Given the description of an element on the screen output the (x, y) to click on. 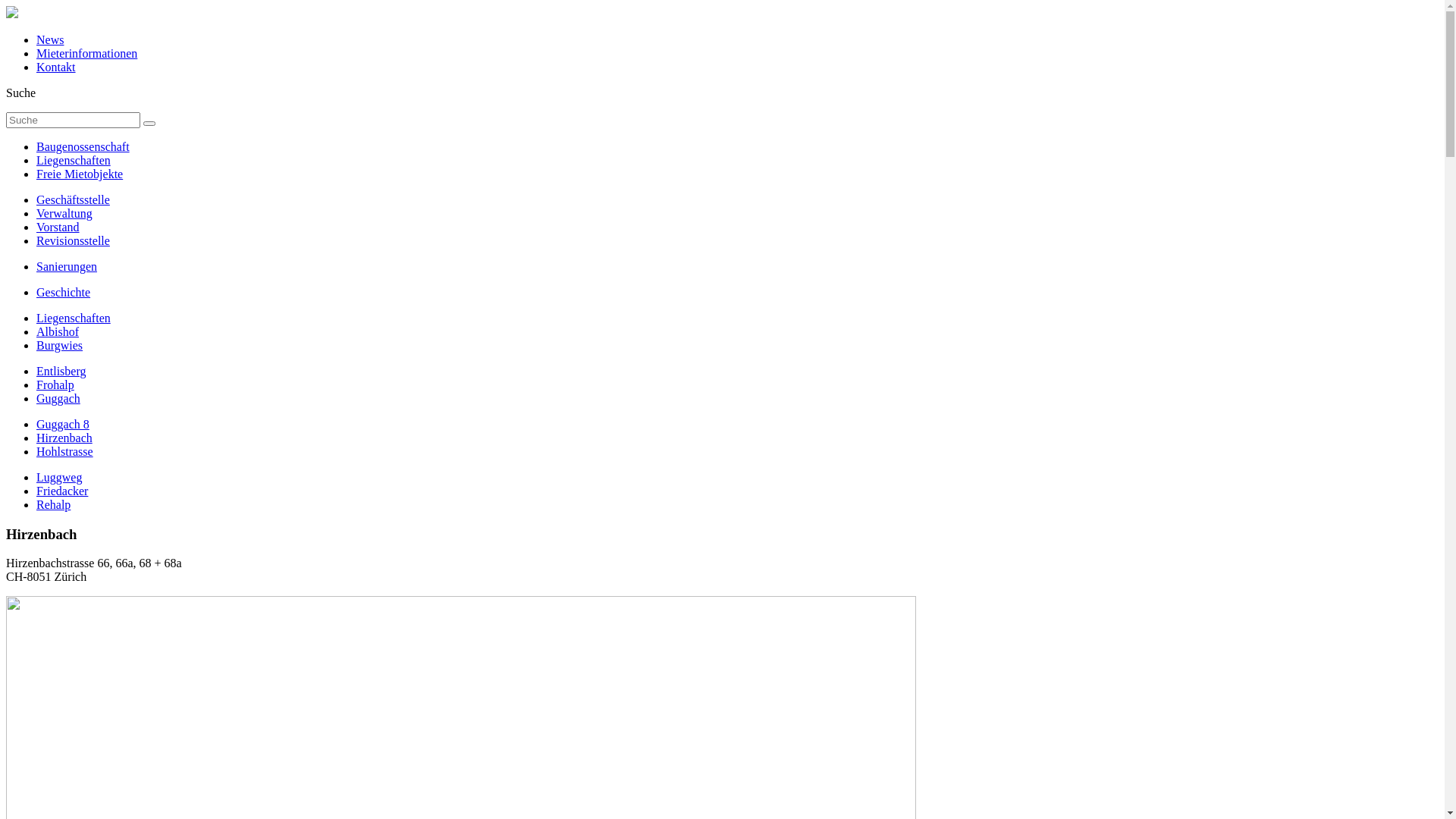
Frohalp Element type: text (55, 384)
Luggweg Element type: text (58, 476)
Mieterinformationen Element type: text (86, 53)
Rehalp Element type: text (53, 504)
Baugenossenschaft Element type: text (82, 146)
Guggach 8 Element type: text (62, 423)
Liegenschaften Element type: text (73, 317)
Geschichte Element type: text (63, 291)
Guggach Element type: text (58, 398)
News Element type: text (49, 39)
Verwaltung Element type: text (64, 213)
Hirzenbach Element type: text (64, 437)
suchen Element type: text (149, 123)
Burgwies Element type: text (59, 344)
Sanierungen Element type: text (66, 266)
Albishof Element type: text (57, 331)
Freie Mietobjekte Element type: text (79, 173)
Liegenschaften Element type: text (73, 159)
Kontakt Element type: text (55, 66)
Revisionsstelle Element type: text (72, 240)
Friedacker Element type: text (61, 490)
Vorstand Element type: text (57, 226)
Entlisberg Element type: text (60, 370)
Hohlstrasse Element type: text (64, 451)
